Given the description of an element on the screen output the (x, y) to click on. 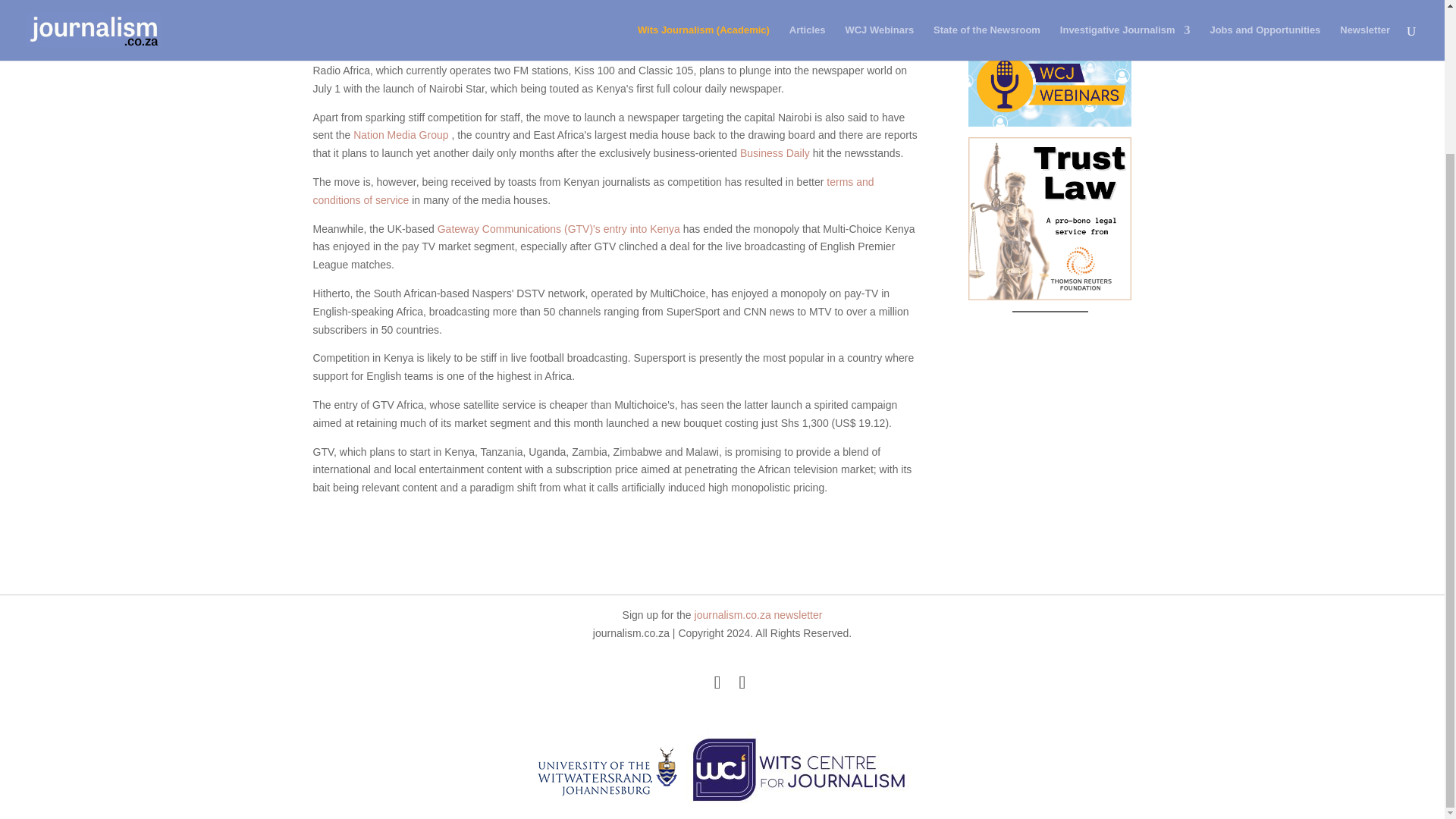
terms and conditions of service (593, 191)
journalism.co.za newsletter (758, 614)
Business Daily (774, 152)
Nation Media Group (400, 134)
